Given the description of an element on the screen output the (x, y) to click on. 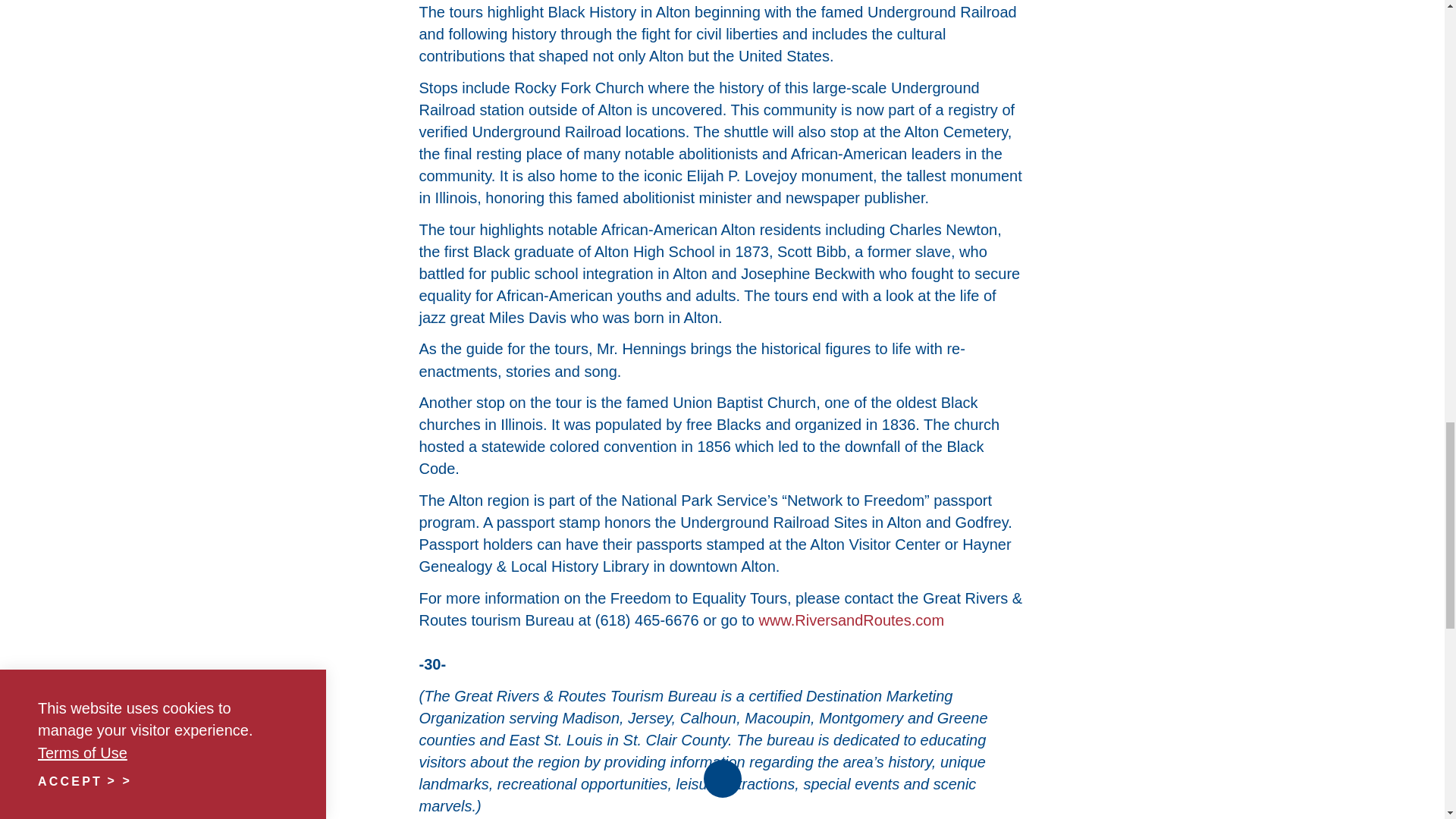
www.RiversandRoutes.com (851, 619)
